Given the description of an element on the screen output the (x, y) to click on. 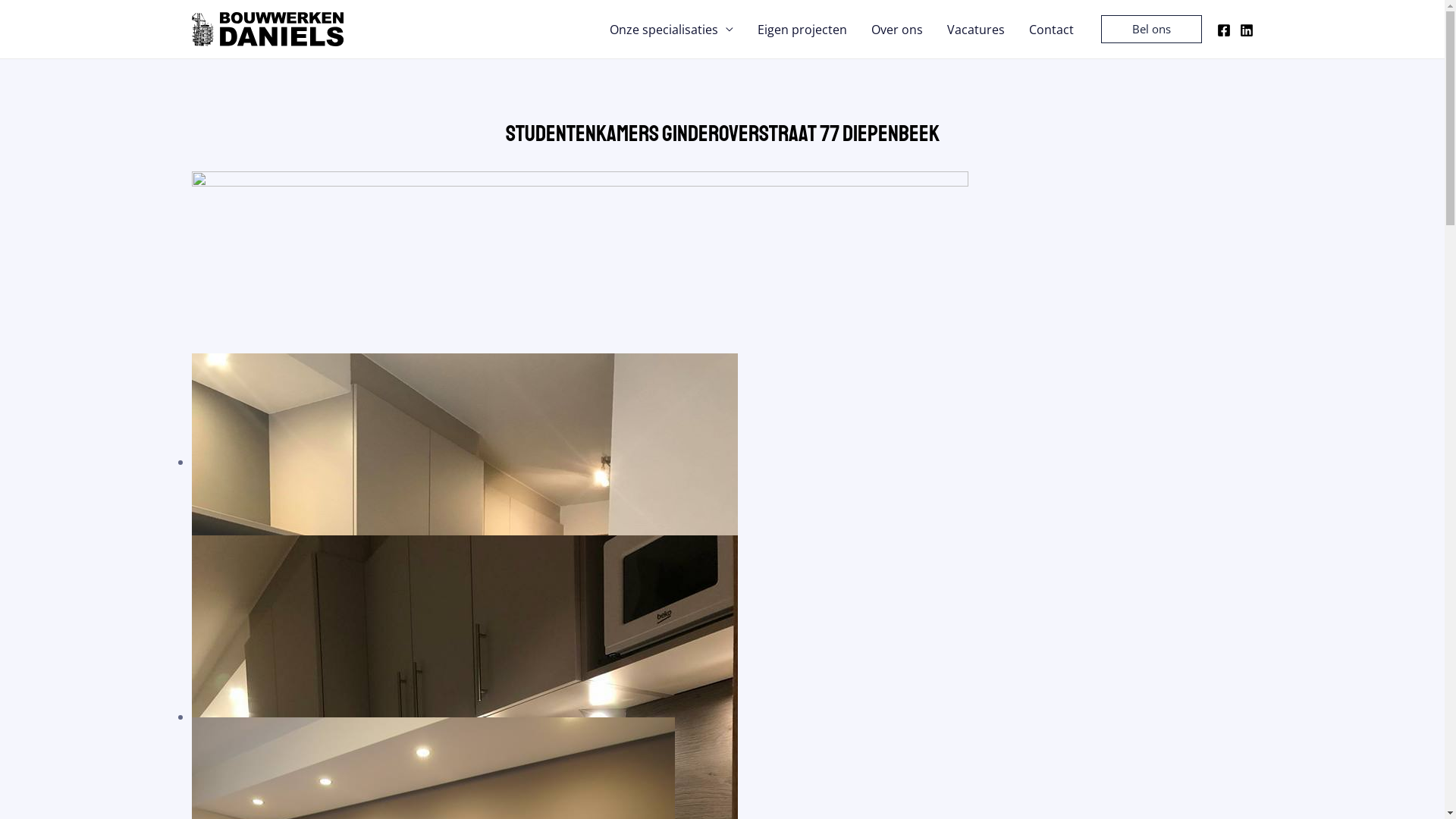
Over ons Element type: text (896, 29)
Contact Element type: text (1050, 29)
Bel ons Element type: text (1151, 29)
Vacatures Element type: text (975, 29)
Eigen projecten Element type: text (801, 29)
Onze specialisaties Element type: text (671, 29)
